Given the description of an element on the screen output the (x, y) to click on. 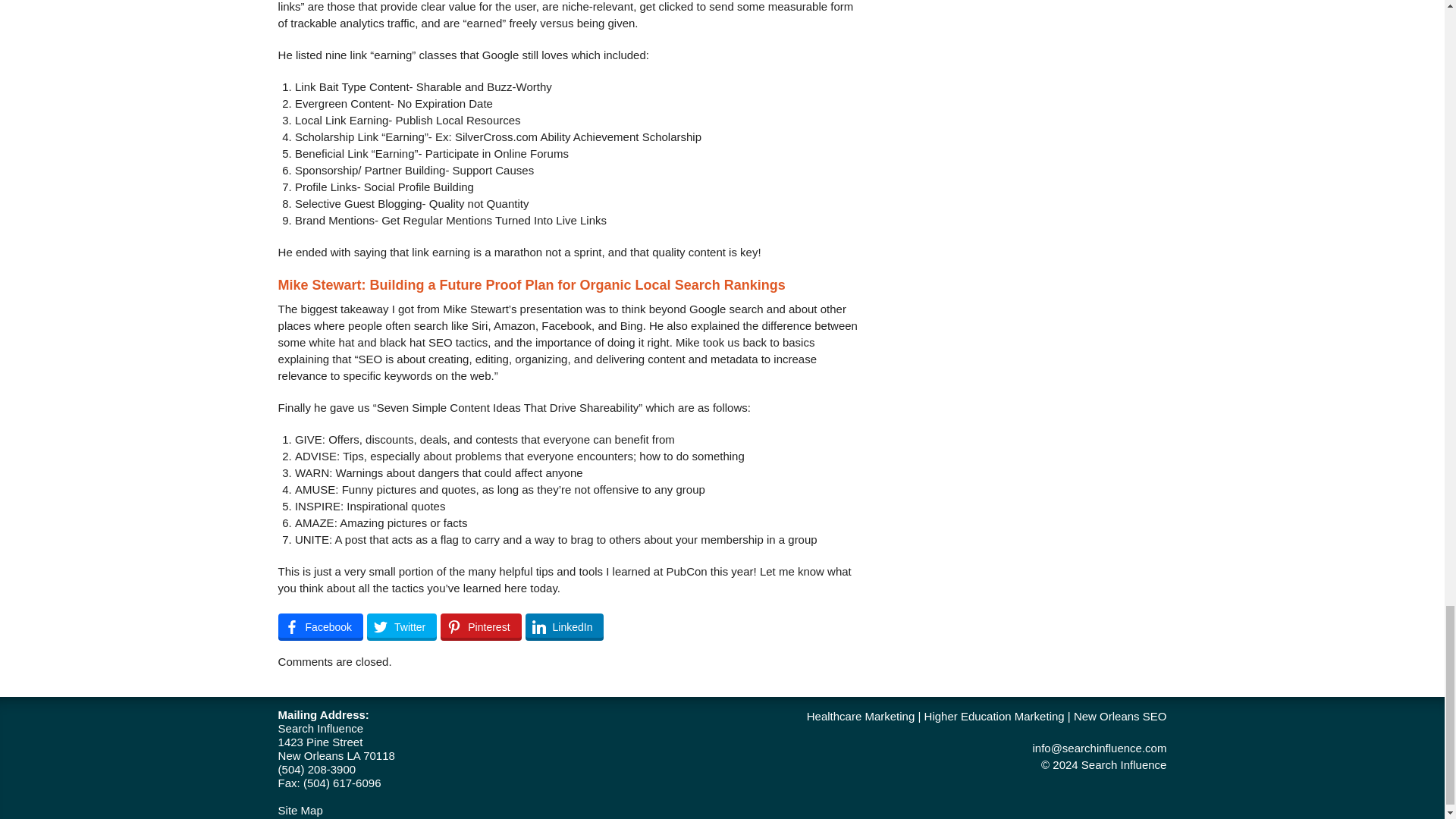
Share on Twitter (401, 626)
Share on Facebook (320, 626)
Share on LinkedIn (564, 626)
Share on Pinterest (481, 626)
Site Map (300, 809)
